Given the description of an element on the screen output the (x, y) to click on. 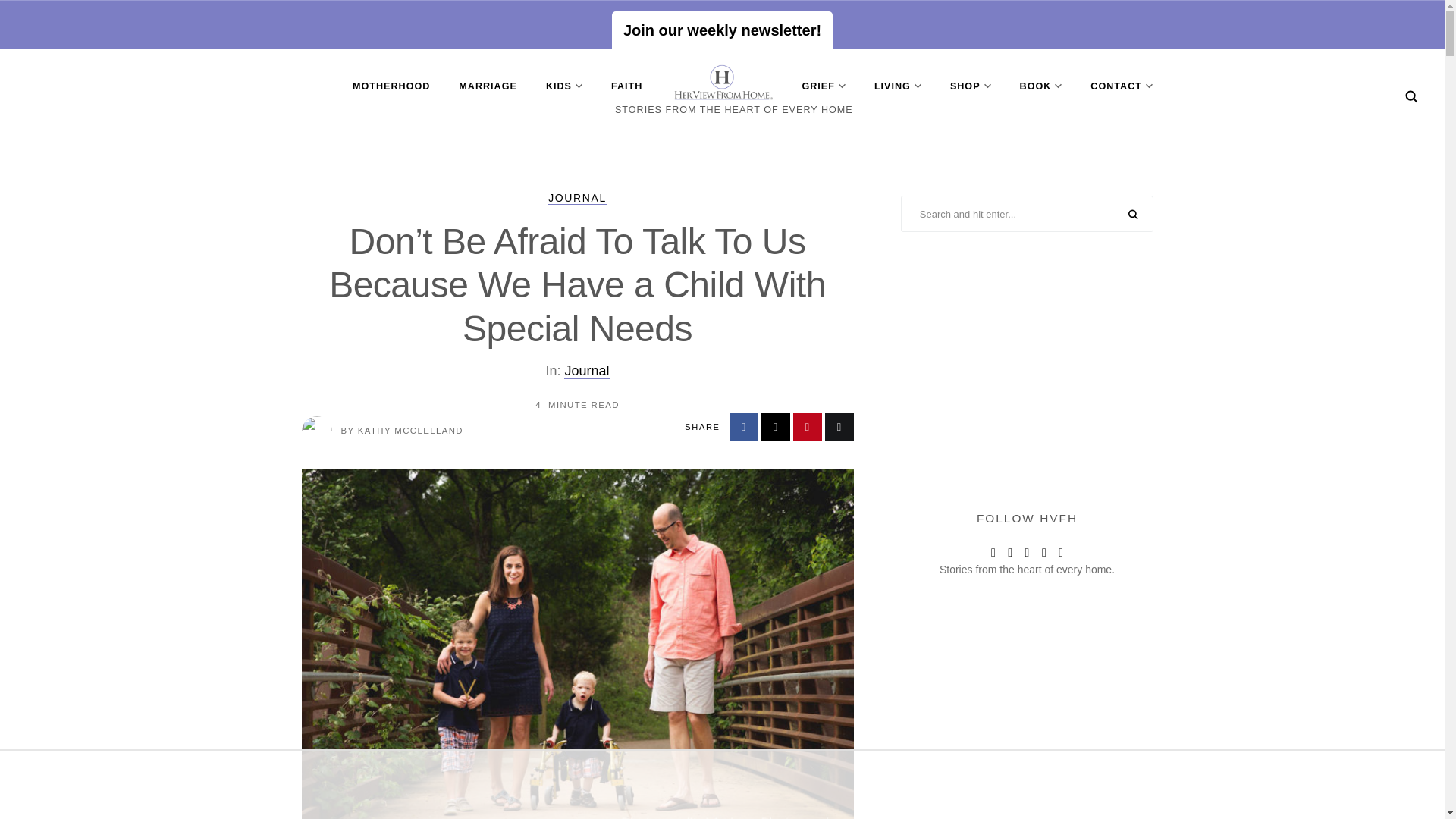
Share on Facebook (743, 426)
SEARCH (1133, 214)
Search (1411, 96)
Share on X (775, 426)
Share on Pinterest (807, 426)
Share by Email (839, 426)
